Given the description of an element on the screen output the (x, y) to click on. 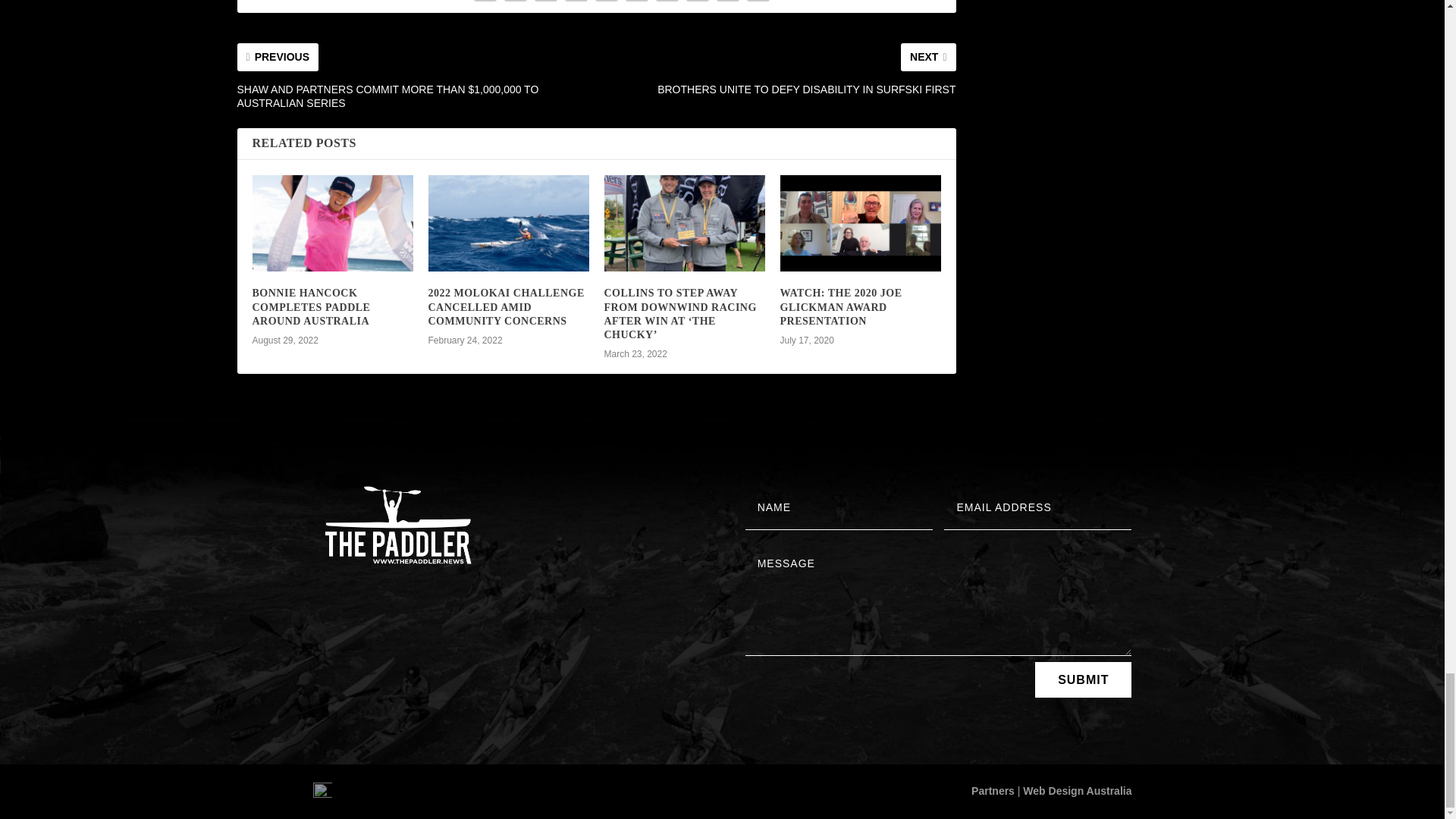
BONNIE HANCOCK COMPLETES PADDLE AROUND AUSTRALIA (310, 306)
